Given the description of an element on the screen output the (x, y) to click on. 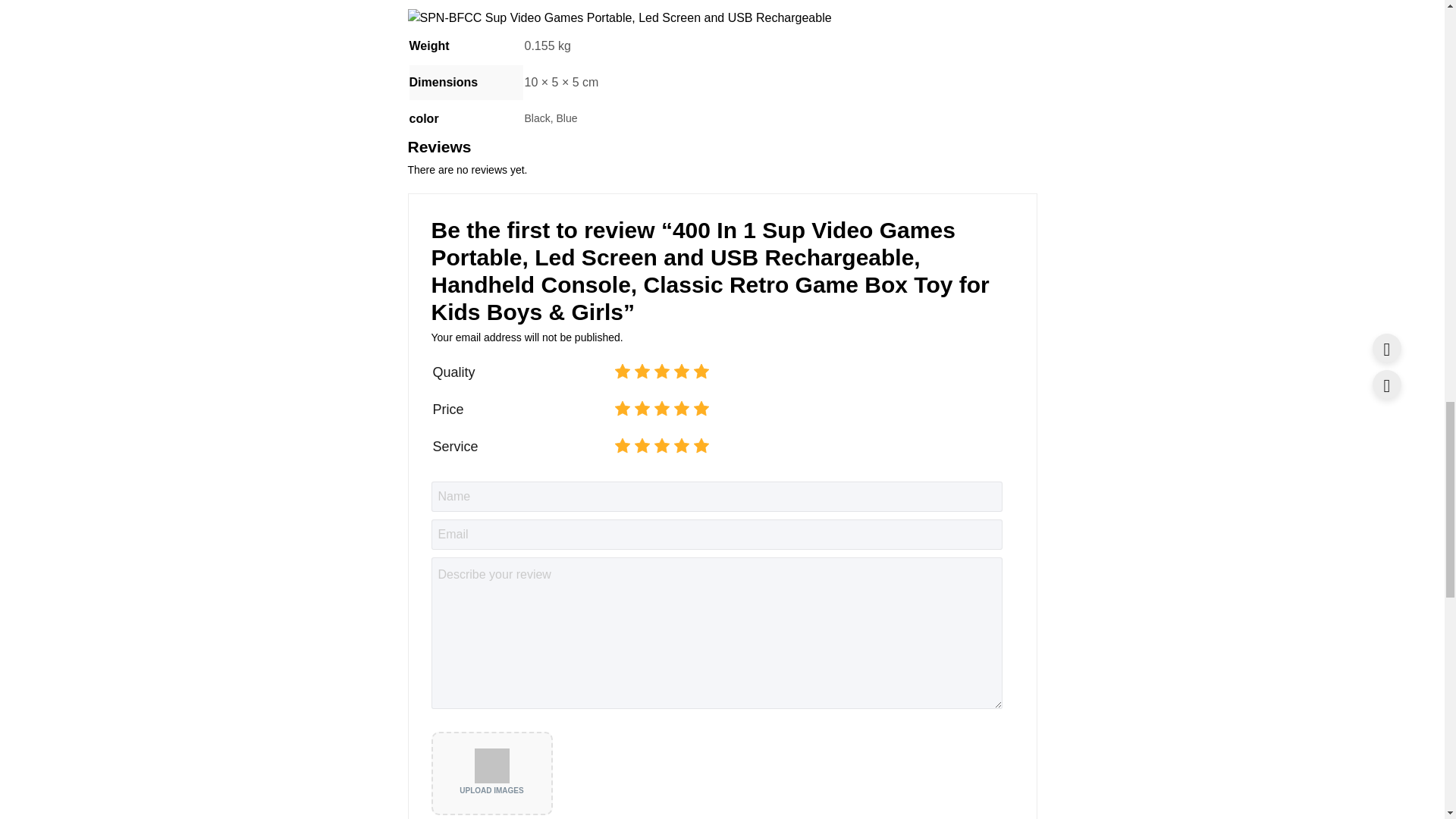
1 (619, 371)
2 (619, 371)
3 (619, 445)
2 (619, 445)
4 (619, 408)
4 (619, 445)
5 (619, 371)
3 (619, 408)
5 (619, 408)
4 (619, 371)
